Given the description of an element on the screen output the (x, y) to click on. 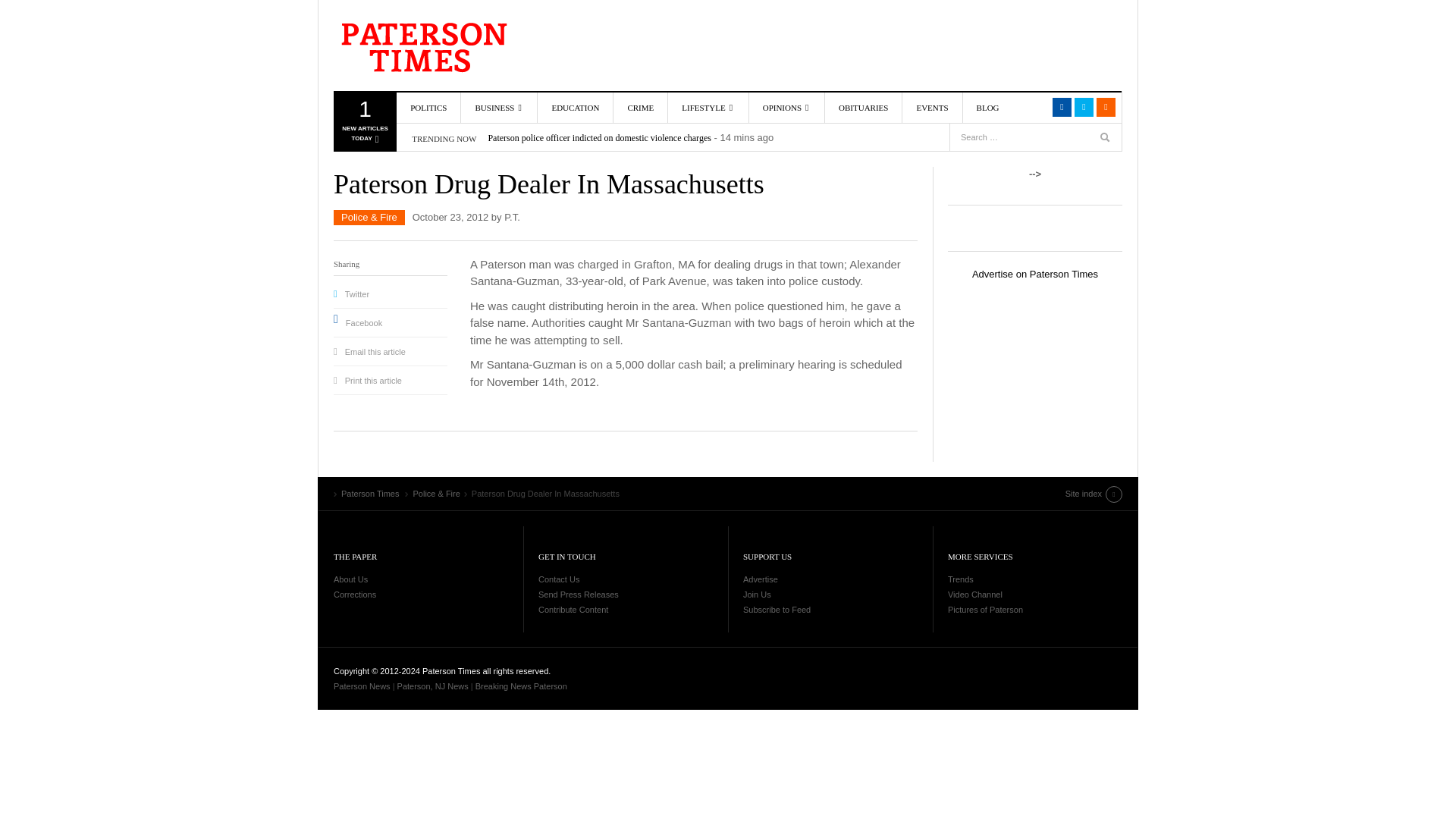
OPINIONS (786, 107)
HEALTH (739, 187)
Paterson Times (420, 45)
EDUCATION (364, 124)
Lifestyle (574, 107)
Rss (708, 107)
BUSINESS (1105, 107)
OBITUARIES (499, 107)
Paterson Times (863, 107)
